Given the description of an element on the screen output the (x, y) to click on. 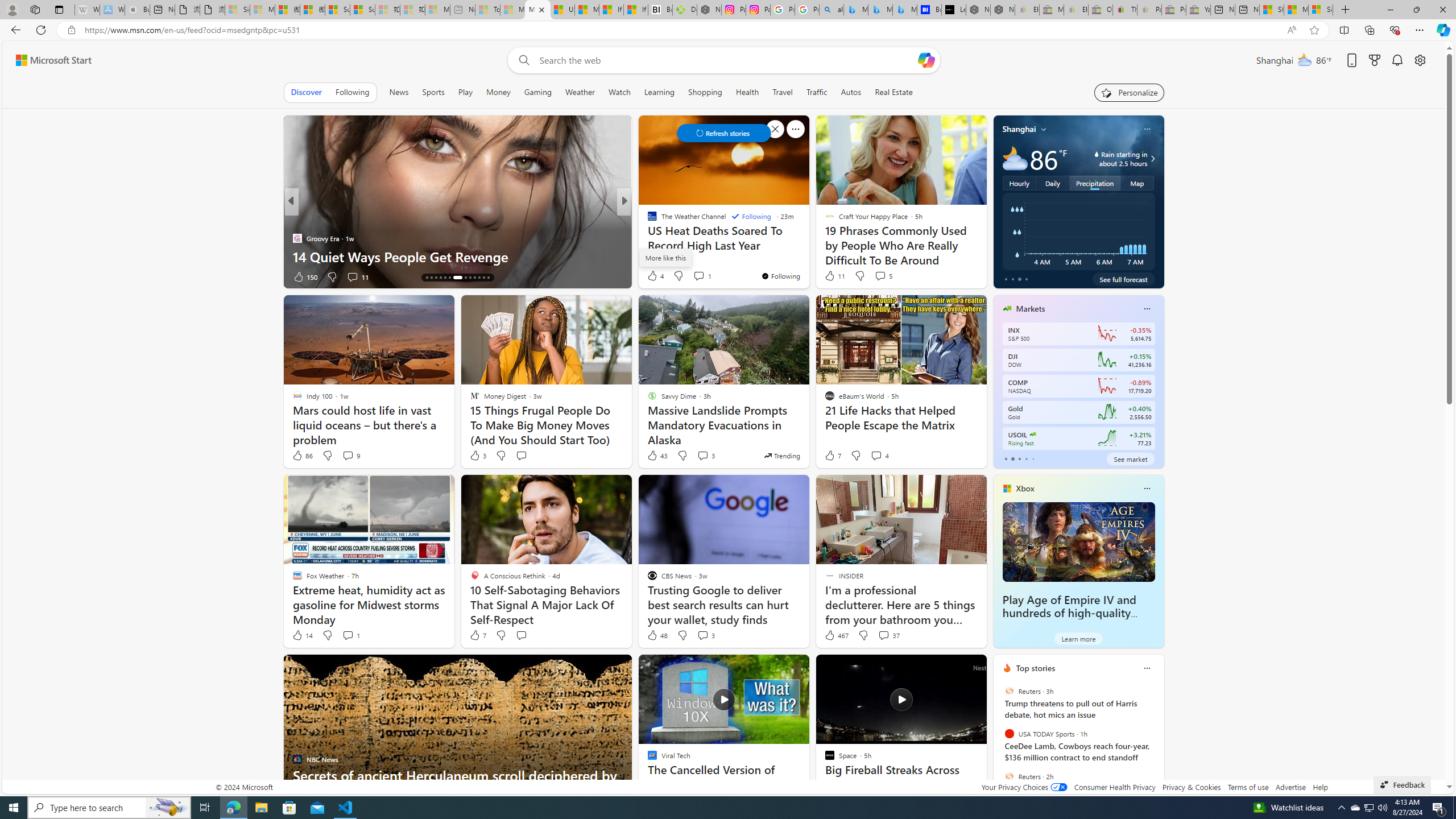
Start the conversation (521, 634)
News (398, 92)
AutomationID: tab-19 (449, 277)
Skip to footer (46, 59)
Autos (850, 92)
Collections (1369, 29)
Personalize your feed" (1129, 92)
11 Like (834, 275)
View comments 9 Comment (347, 455)
Google is a monopoly. The fix isn't obvious (807, 256)
View comments 11 Comment (357, 276)
